Given the description of an element on the screen output the (x, y) to click on. 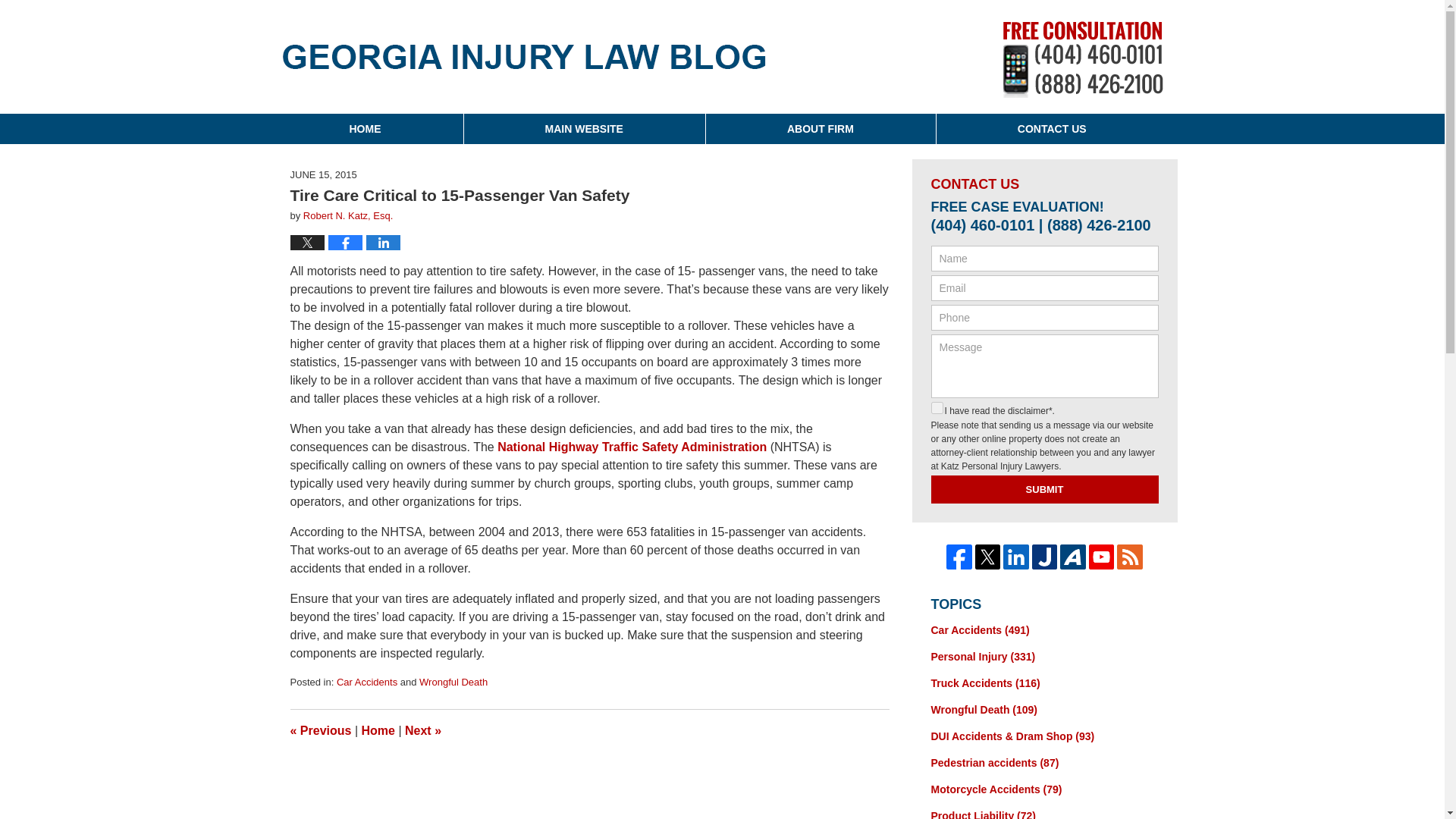
HOME (364, 128)
AVVO (1072, 557)
Justia (1044, 557)
MAIN WEBSITE (583, 128)
Georgia Injury Law Blog (523, 56)
Please enter a valid phone number. (1044, 317)
National Highway Traffic Safety Administration (632, 446)
LinkedIn (1015, 557)
View all posts in Car Accidents (366, 681)
SUBMIT (1044, 489)
Home (377, 730)
Wrongful Death (453, 681)
View all posts in Wrongful Death (453, 681)
